Given the description of an element on the screen output the (x, y) to click on. 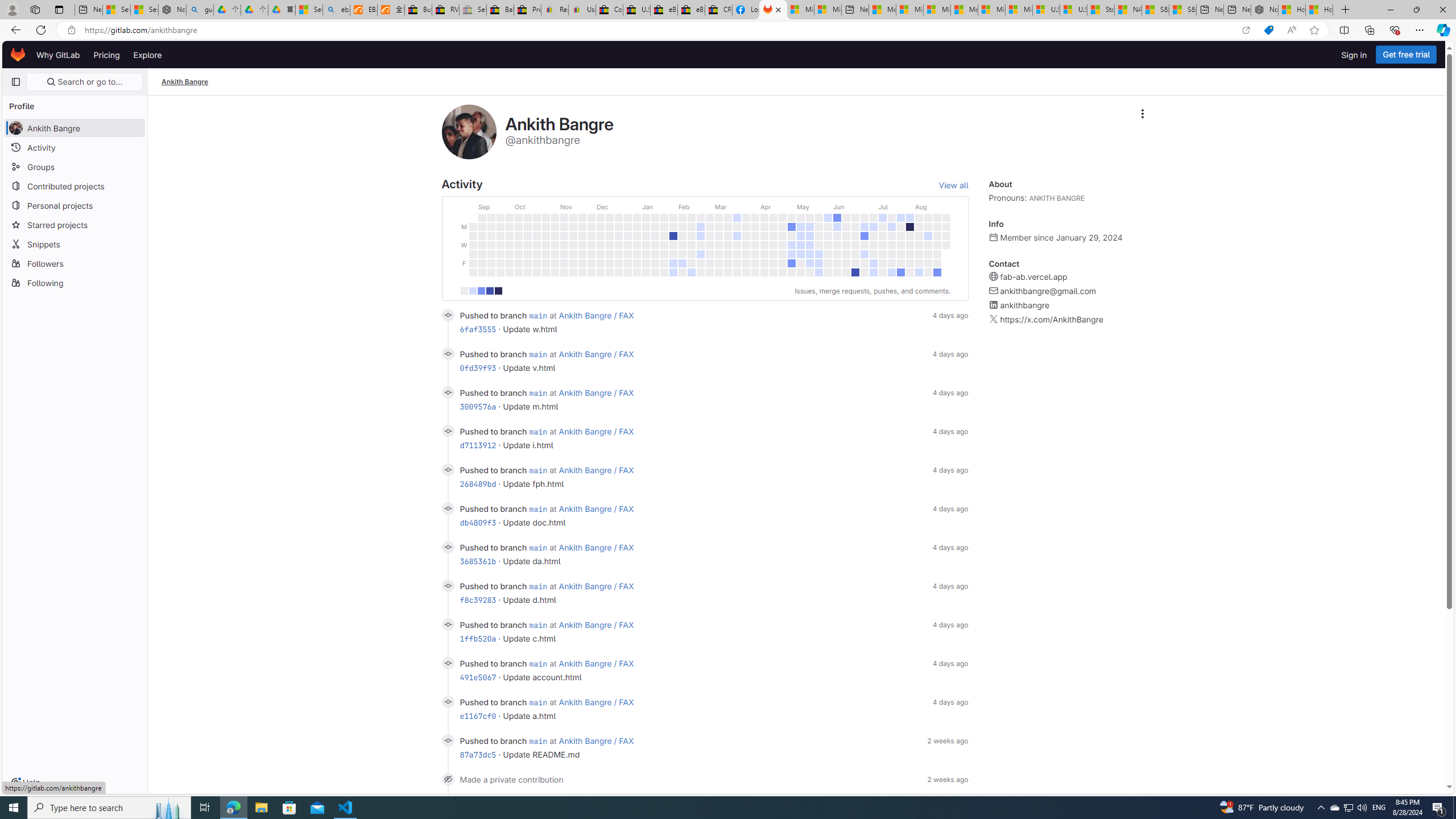
0fd39f93 (478, 367)
Activity (74, 147)
268489bd (478, 483)
